Given the description of an element on the screen output the (x, y) to click on. 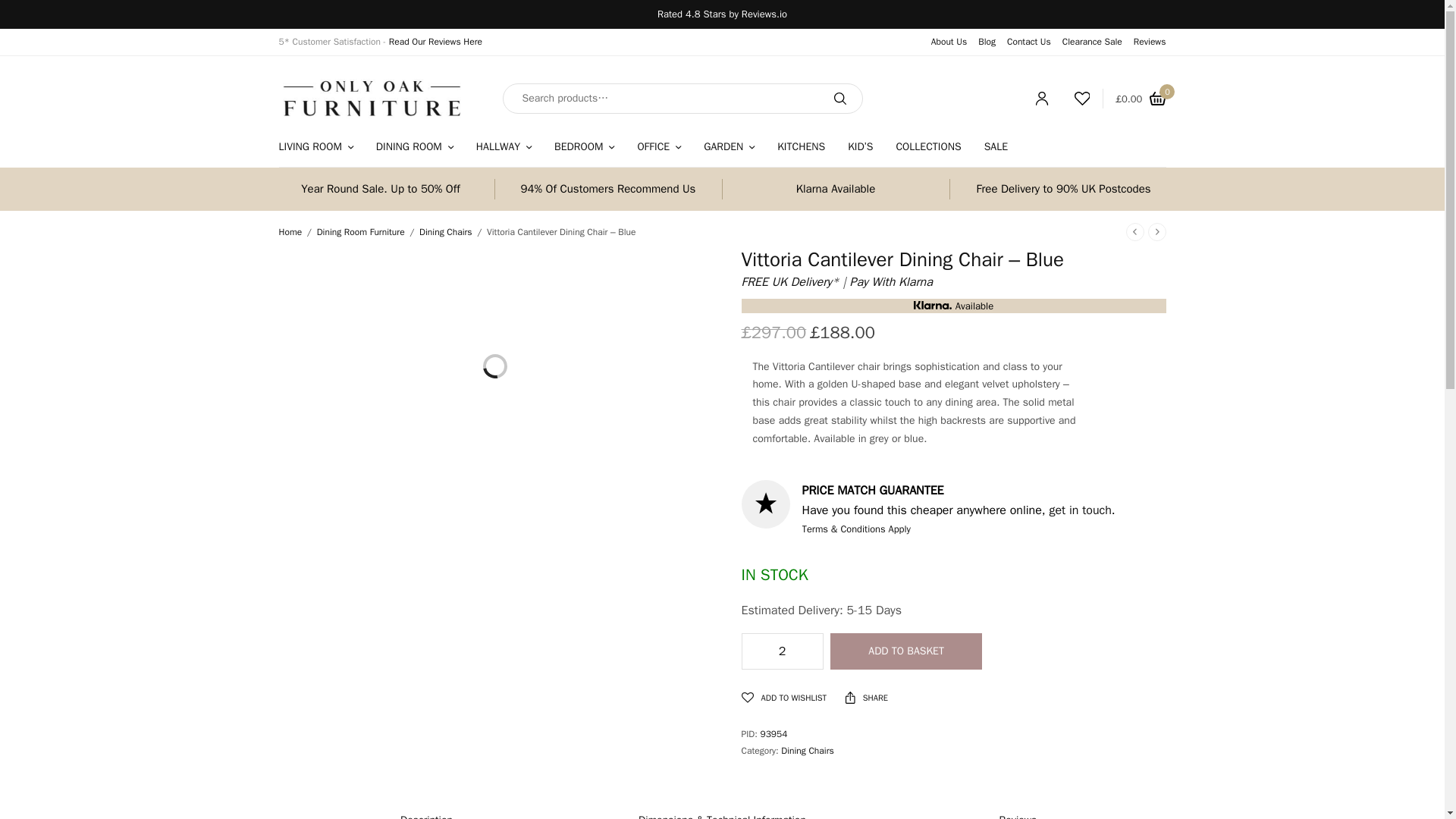
Reviews (1150, 41)
Reviews.io (764, 13)
2 (781, 651)
Contact Us (1029, 41)
Add To Wishlist (784, 697)
vittoria blue chairs roomset (495, 387)
Search (839, 98)
Read Our Reviews Here (434, 41)
Clearance Sale (1092, 41)
LIVING ROOM (316, 146)
